Given the description of an element on the screen output the (x, y) to click on. 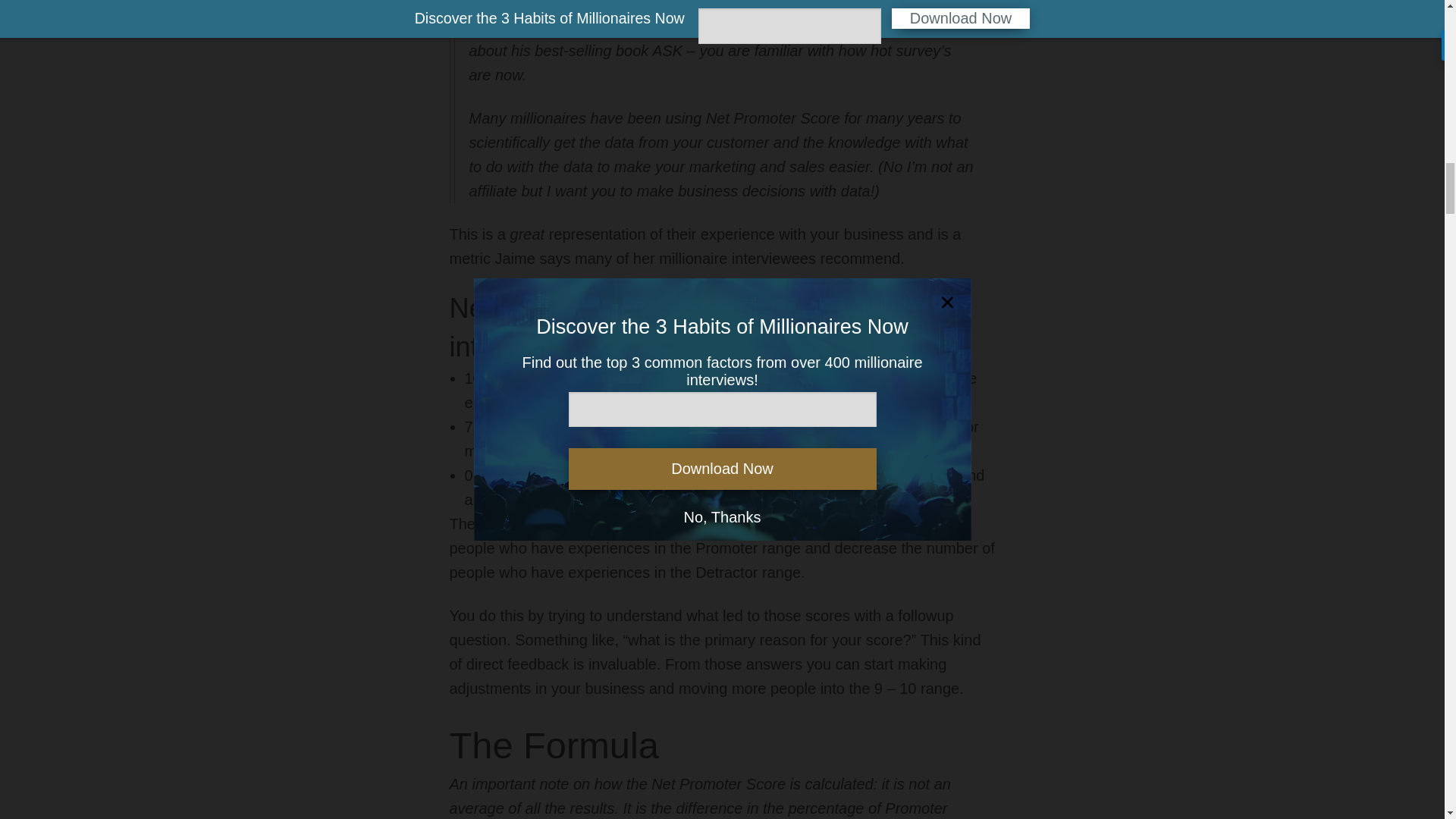
interview with Ryan Levesque (807, 26)
